Given the description of an element on the screen output the (x, y) to click on. 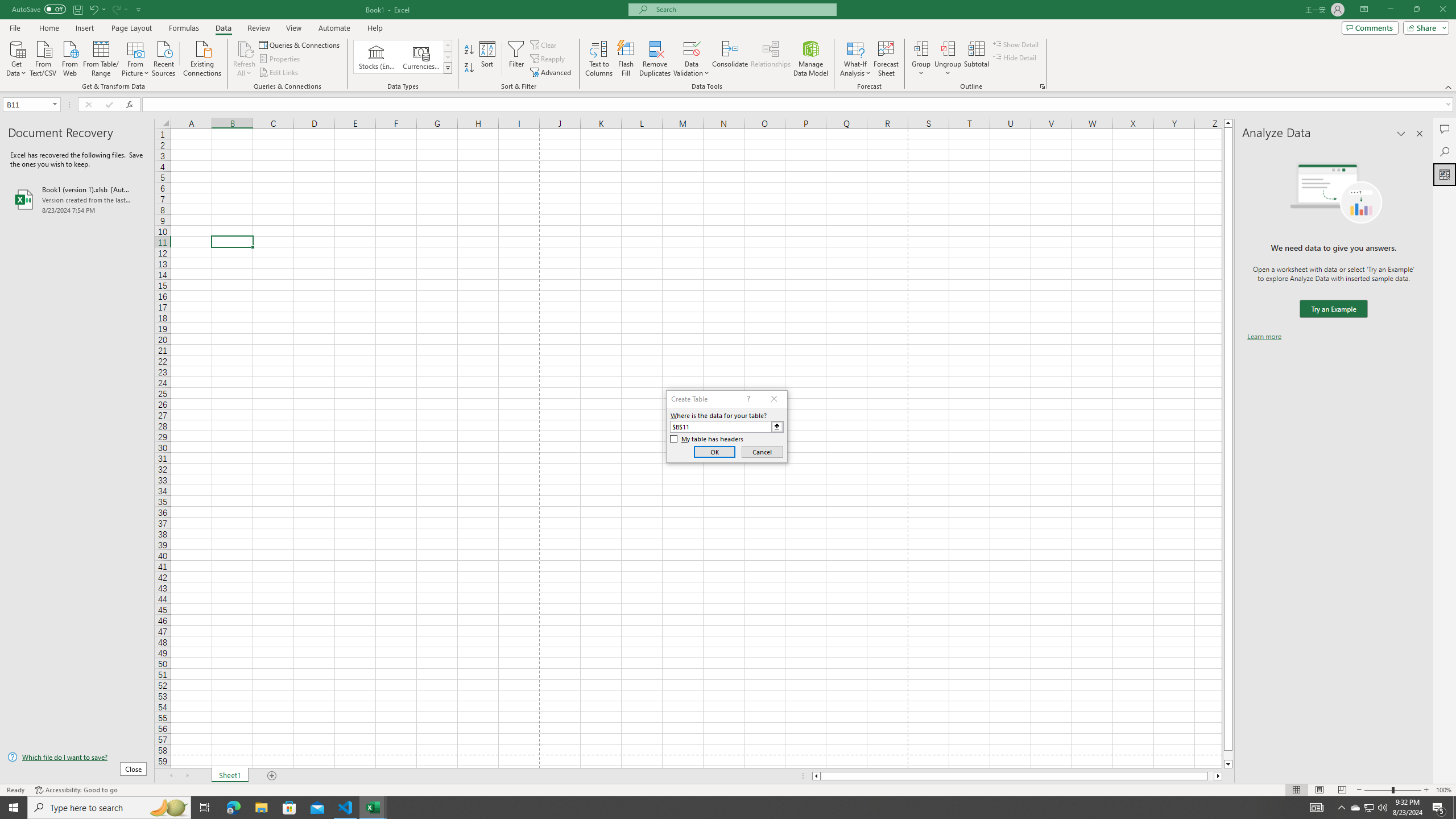
Subtotal (976, 58)
We need data to give you answers. Try an Example (1333, 308)
Ungroup... (947, 48)
Sort Z to A (469, 67)
Page right (1211, 775)
Row up (448, 45)
Data Validation... (691, 58)
Refresh All (244, 58)
Consolidate... (729, 58)
Get Data (16, 57)
